Given the description of an element on the screen output the (x, y) to click on. 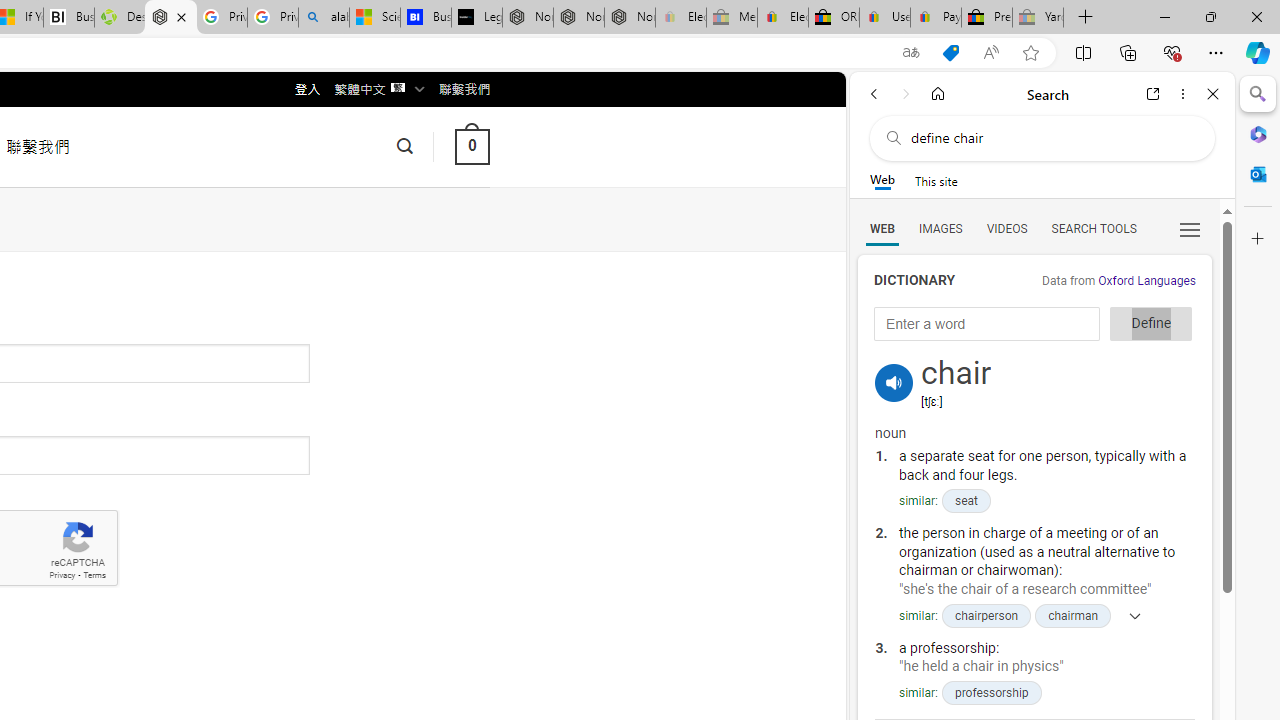
Oxford Languages (1146, 281)
chairperson (985, 615)
  0   (472, 146)
